Given the description of an element on the screen output the (x, y) to click on. 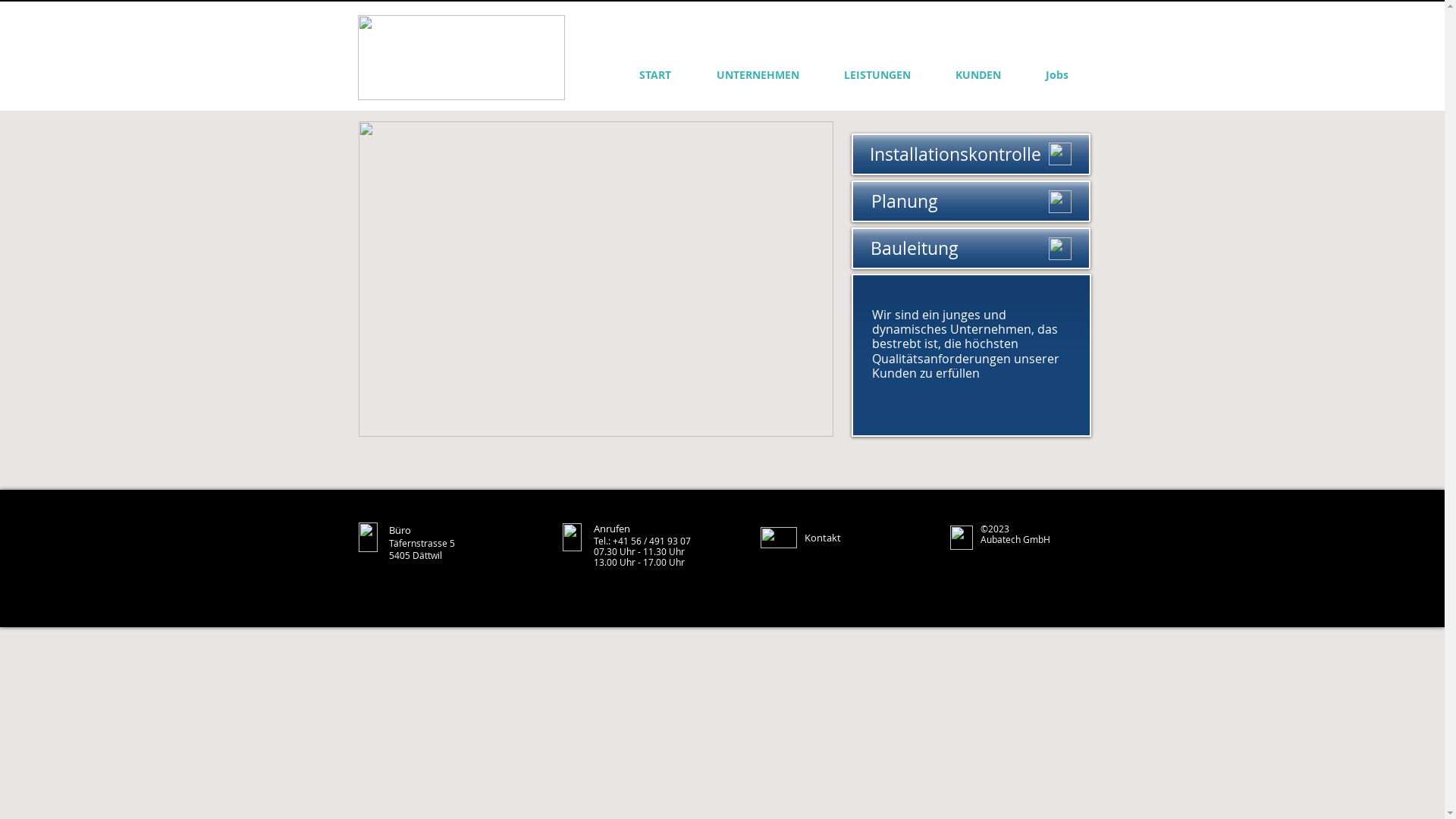
Jobs Element type: text (1057, 74)
KUNDEN Element type: text (977, 74)
START Element type: text (654, 74)
Planung Element type: text (969, 201)
UNTERNEHMEN Element type: text (757, 74)
Installationskontrolle Element type: text (969, 154)
LEISTUNGEN Element type: text (877, 74)
Bauleitung Element type: text (969, 248)
